Given the description of an element on the screen output the (x, y) to click on. 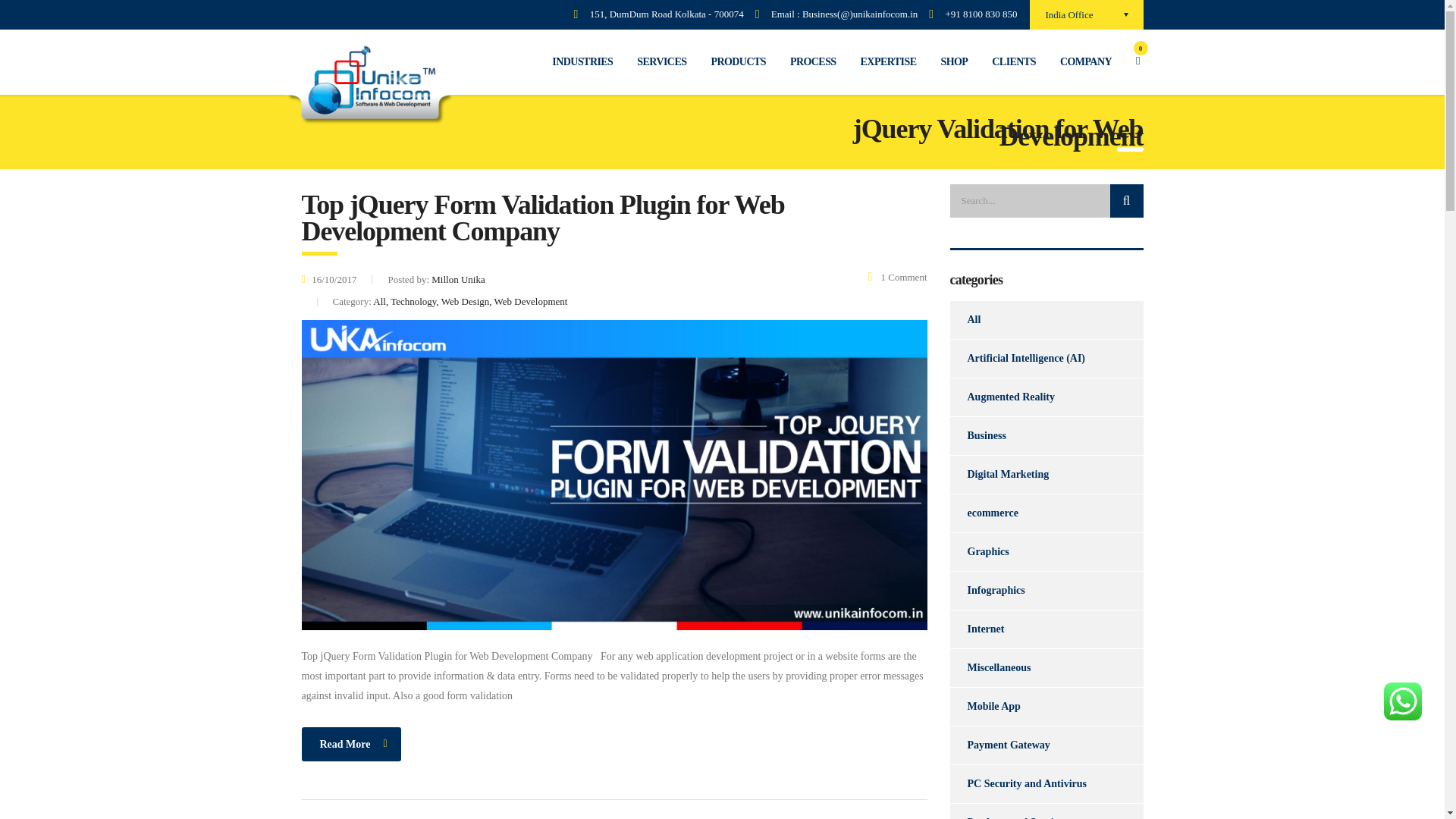
EXPERTISE (888, 61)
PROCESS (812, 61)
CLIENTS (1013, 61)
PRODUCTS (737, 61)
SHOP (953, 61)
COMPANY (1086, 61)
INDUSTRIES (582, 61)
SERVICES (661, 61)
